Given the description of an element on the screen output the (x, y) to click on. 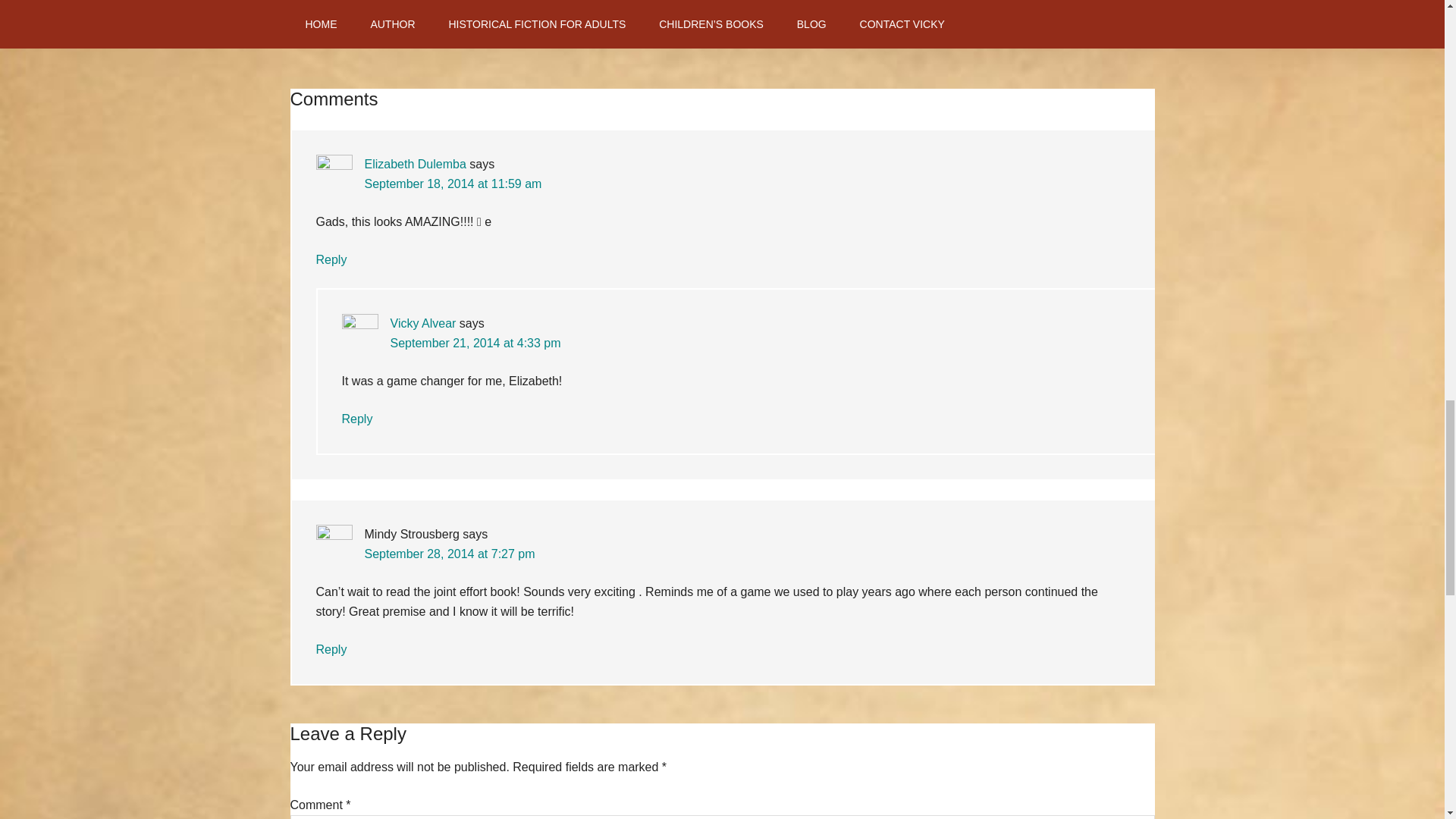
September 28, 2014 at 7:27 pm (449, 553)
September 18, 2014 at 11:59 am (452, 183)
Vicky Alvear (422, 323)
Books (434, 15)
Reply (356, 418)
Writing (604, 15)
Reply (330, 259)
Publishing (558, 15)
Reply (330, 649)
September 21, 2014 at 4:33 pm (475, 342)
